Given the description of an element on the screen output the (x, y) to click on. 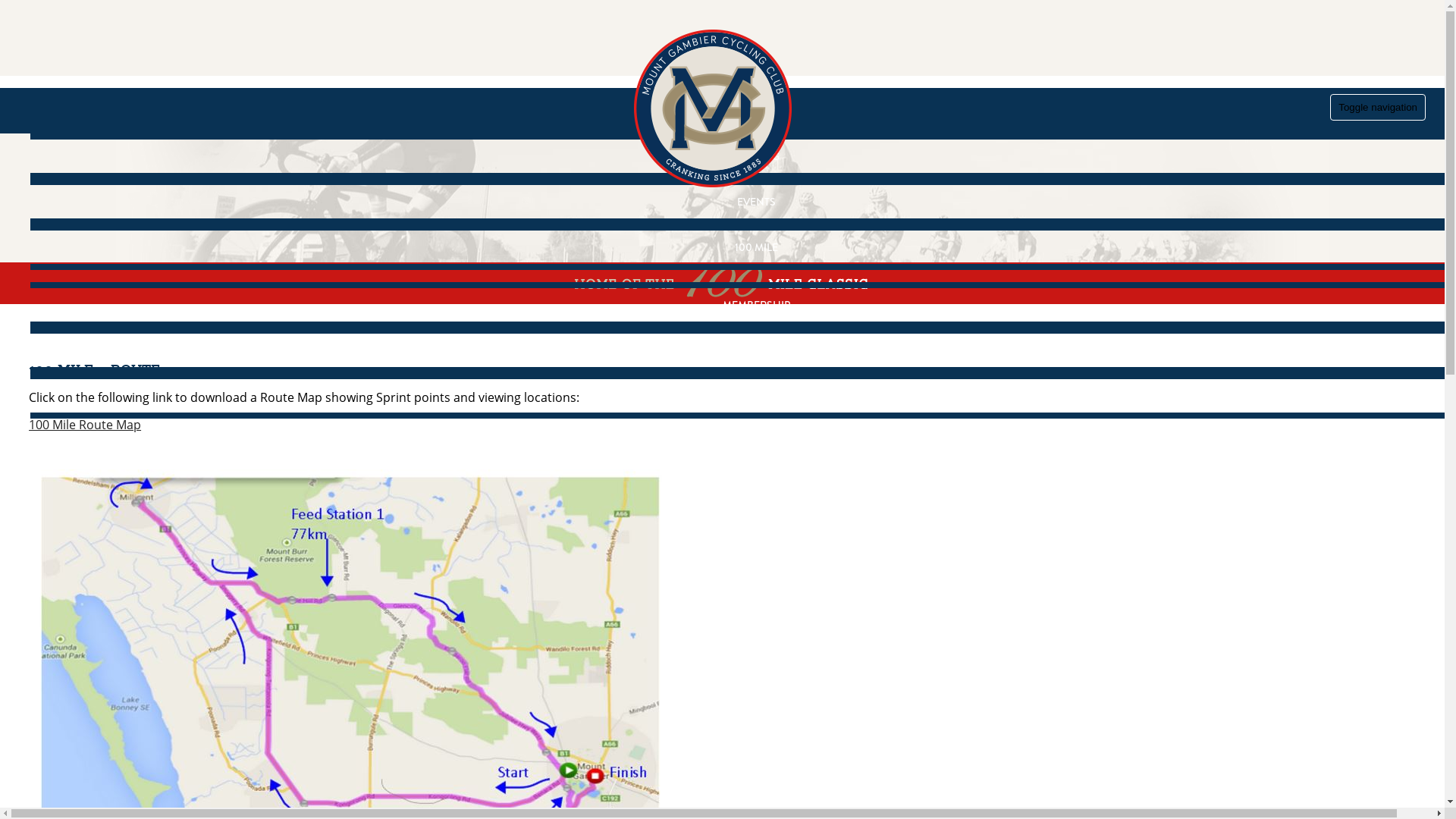
Toggle navigation Element type: text (1377, 107)
100 Mile Route Map Element type: text (84, 424)
